Given the description of an element on the screen output the (x, y) to click on. 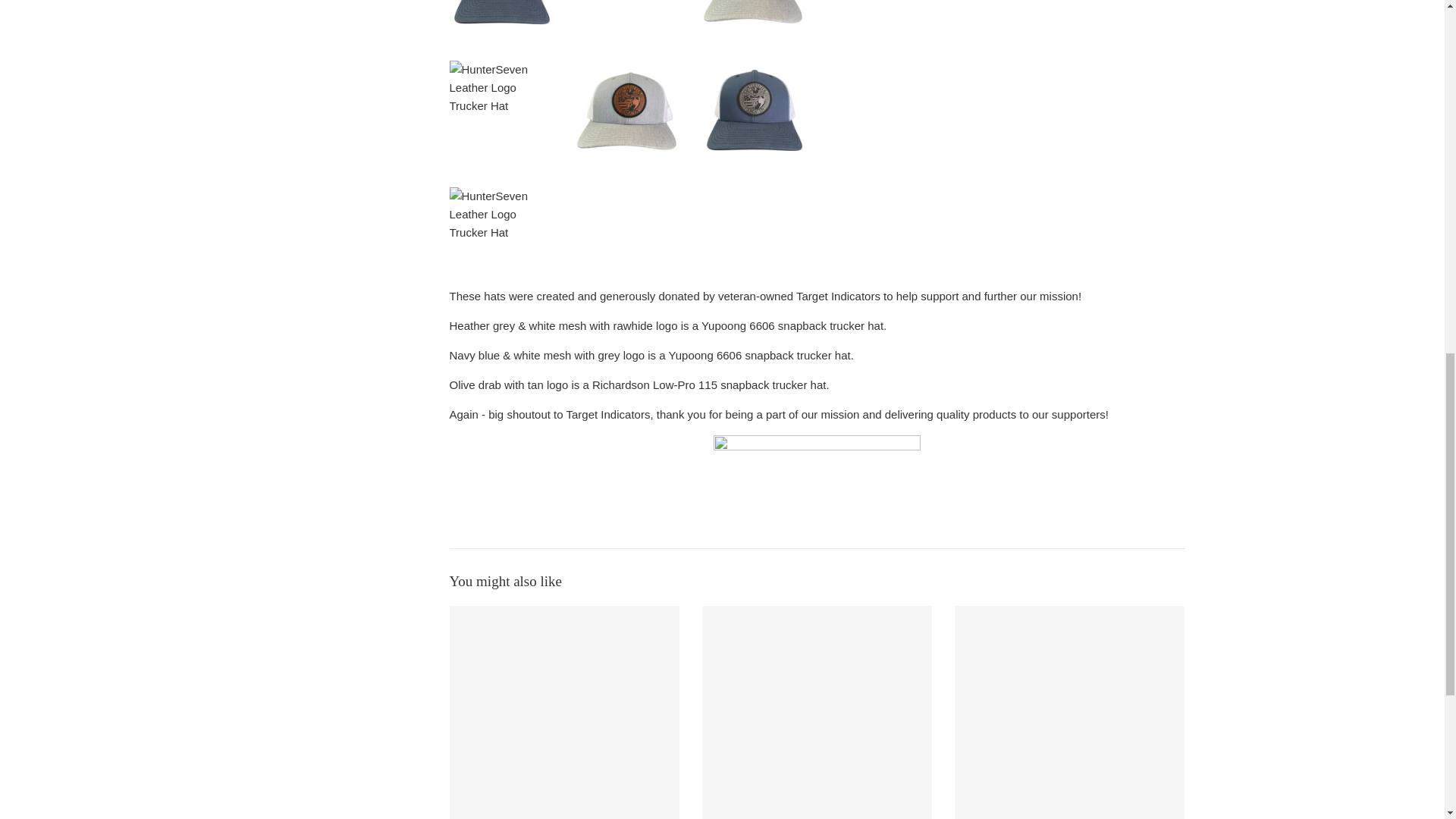
Water Is Life (1070, 712)
Haters Can't Surf 2.0 (816, 712)
Target Indicators (838, 295)
